Given the description of an element on the screen output the (x, y) to click on. 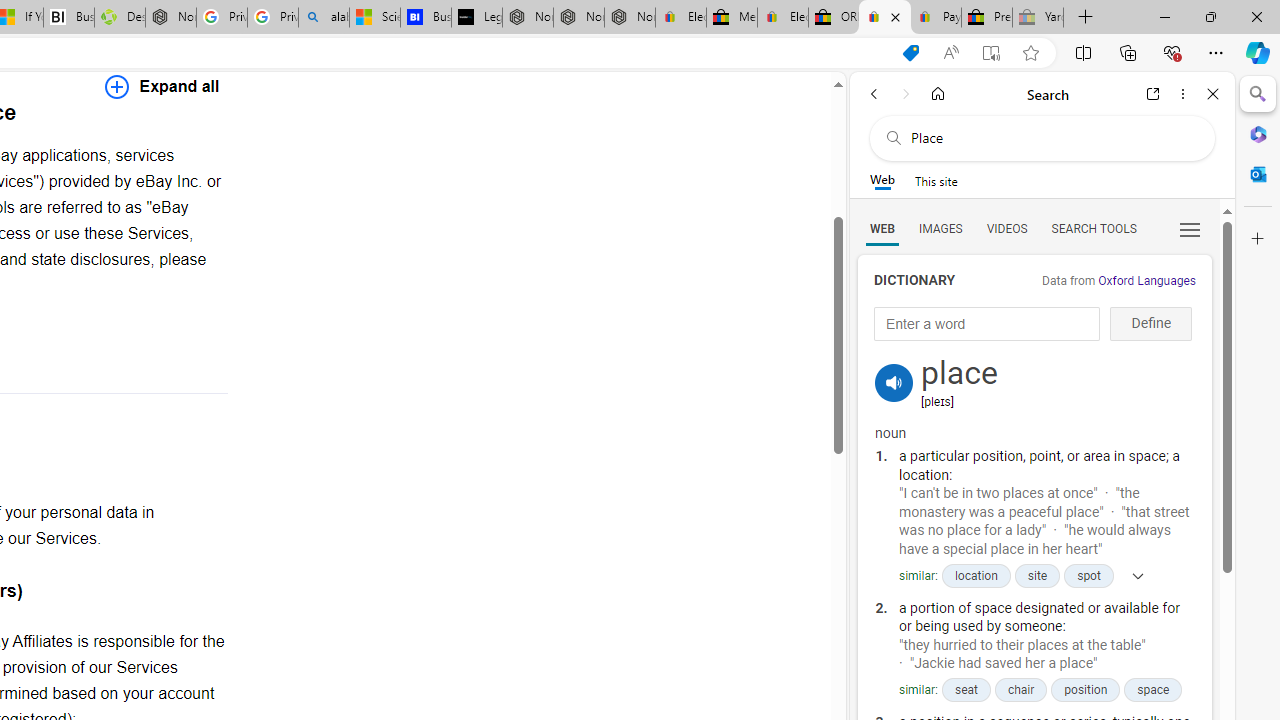
alabama high school quarterback dies - Search (324, 17)
spot (1088, 575)
location (975, 575)
User Privacy Notice | eBay (885, 17)
position (1085, 690)
VIDEOS (1006, 228)
Search Filter, WEB (882, 228)
